Given the description of an element on the screen output the (x, y) to click on. 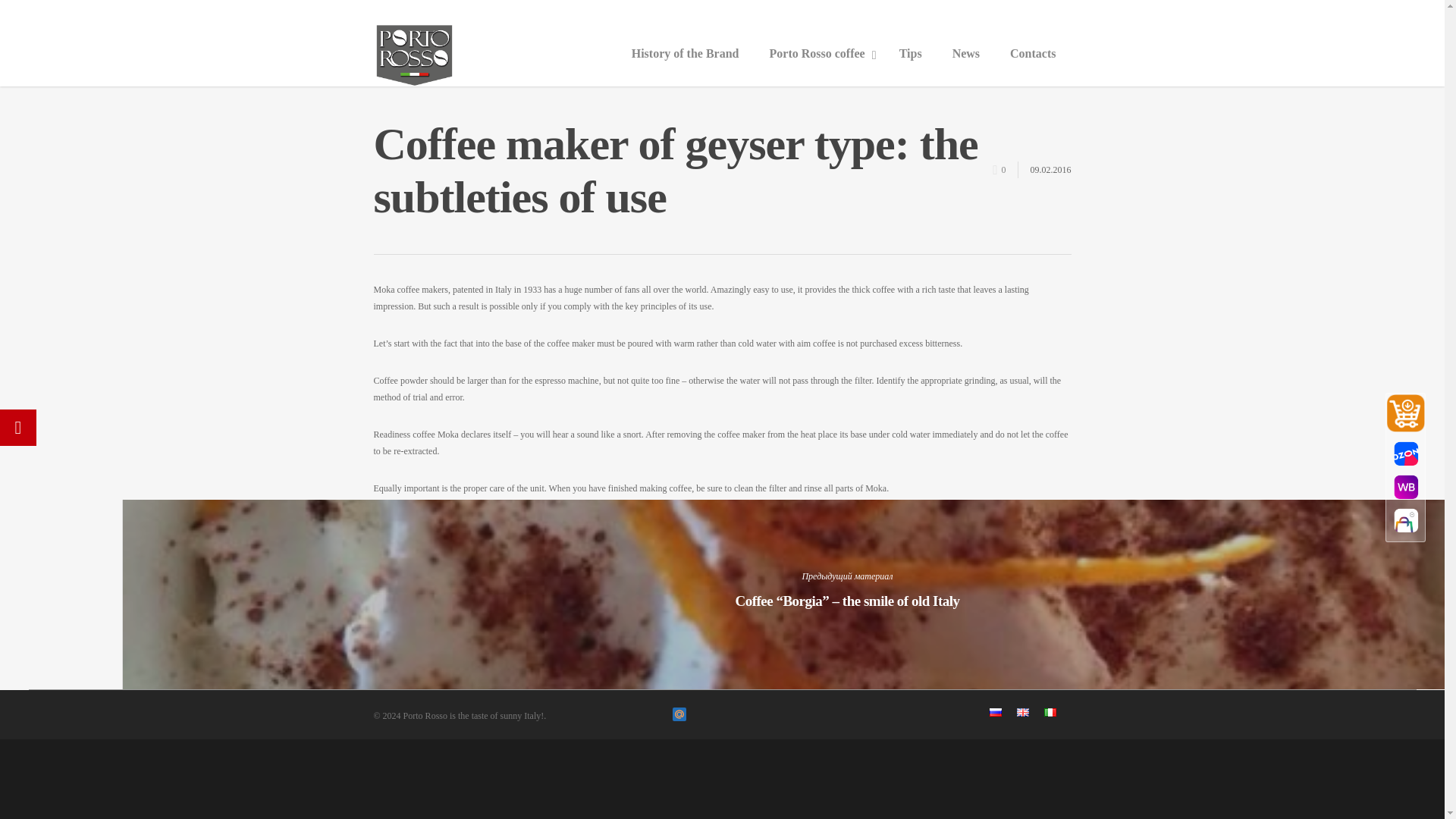
History of the Brand (684, 53)
Love this (1004, 167)
Porto Rosso coffee (818, 53)
